Given the description of an element on the screen output the (x, y) to click on. 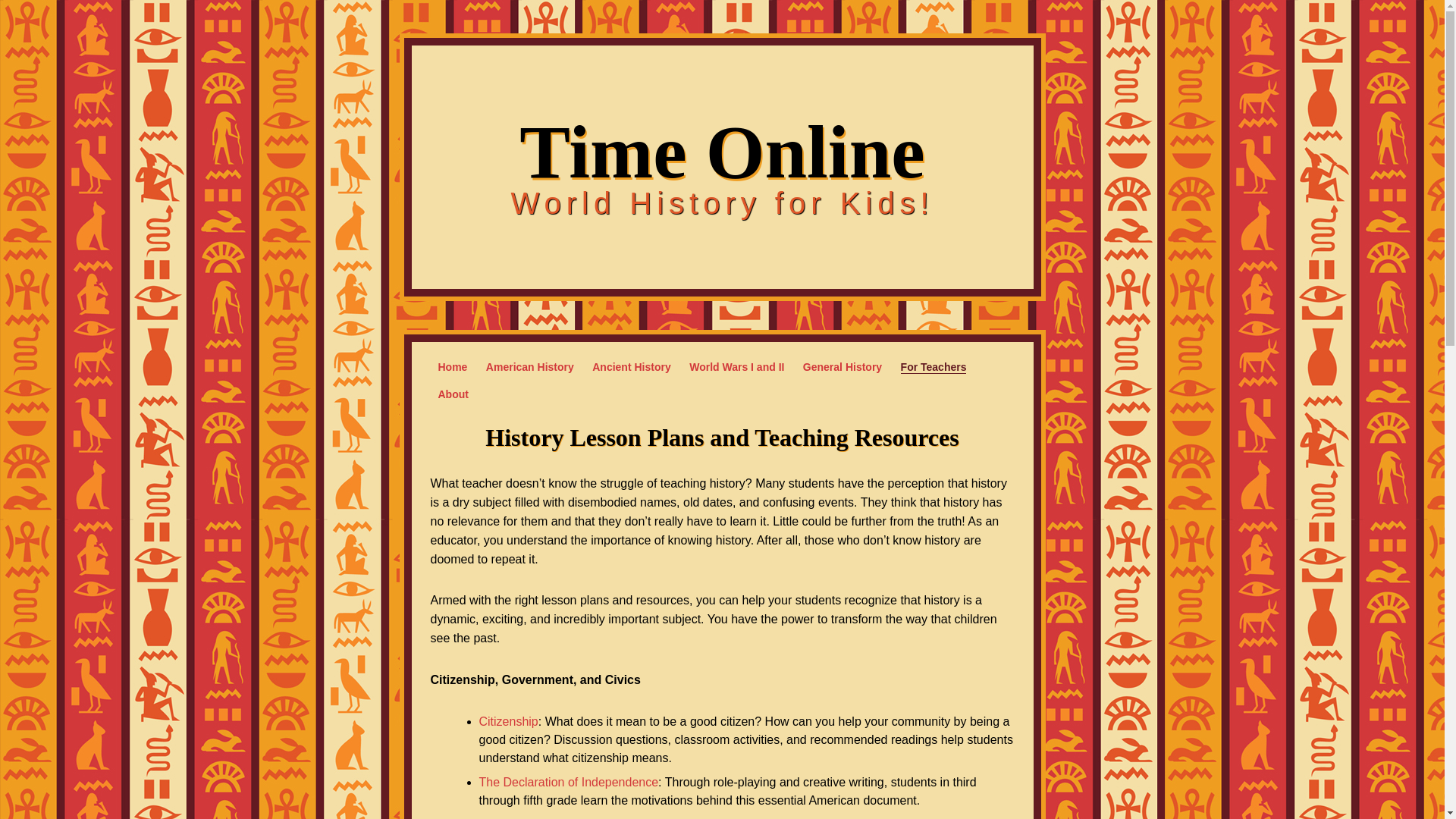
American History (529, 367)
Citizenship (508, 721)
Time Online (721, 151)
For Teachers (933, 367)
Ancient History (630, 367)
Home (452, 367)
General History (842, 367)
History Lesson Plans and Teaching Resources (721, 437)
About (453, 394)
